Given the description of an element on the screen output the (x, y) to click on. 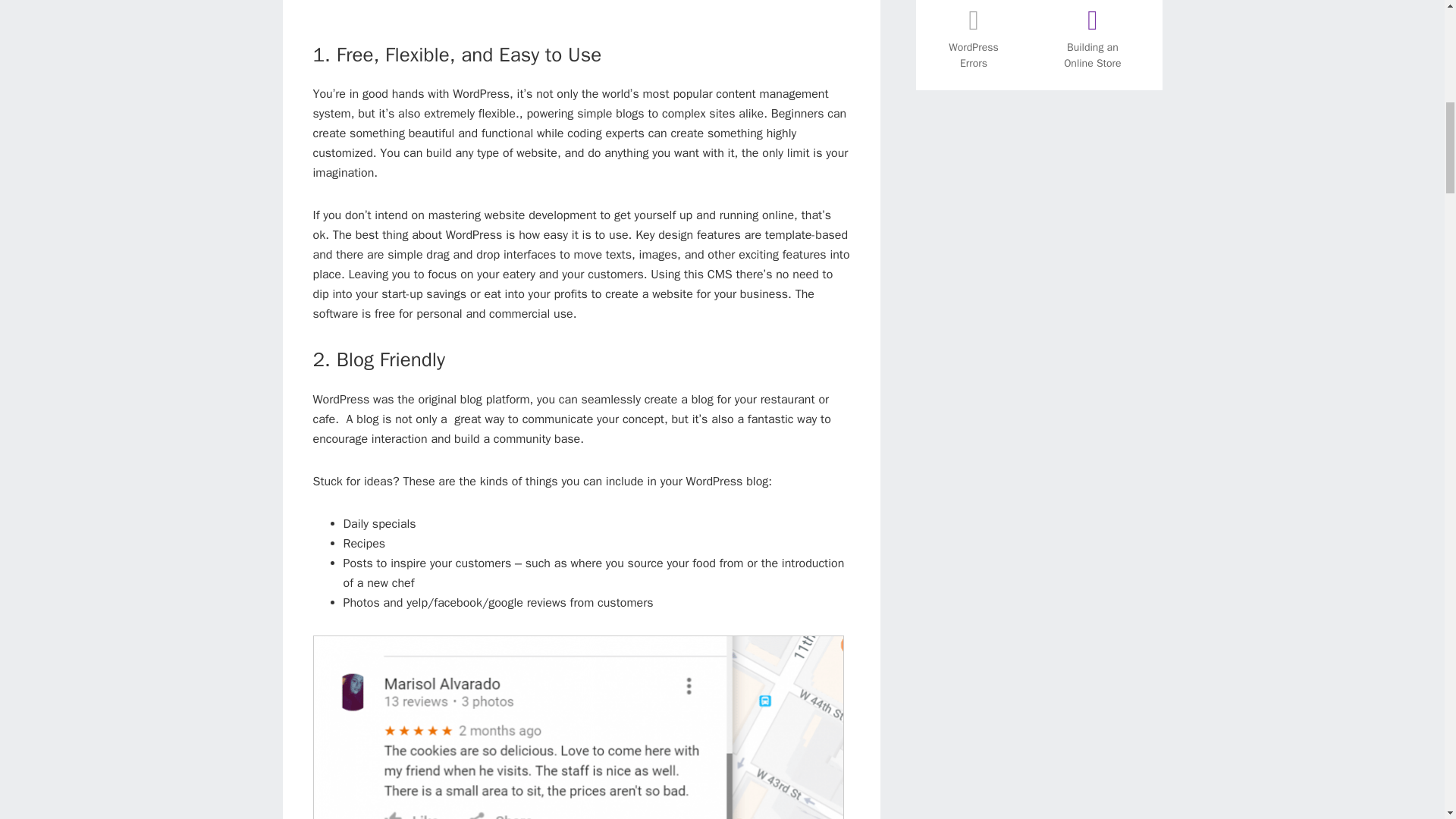
restaurant reviews (578, 727)
